Given the description of an element on the screen output the (x, y) to click on. 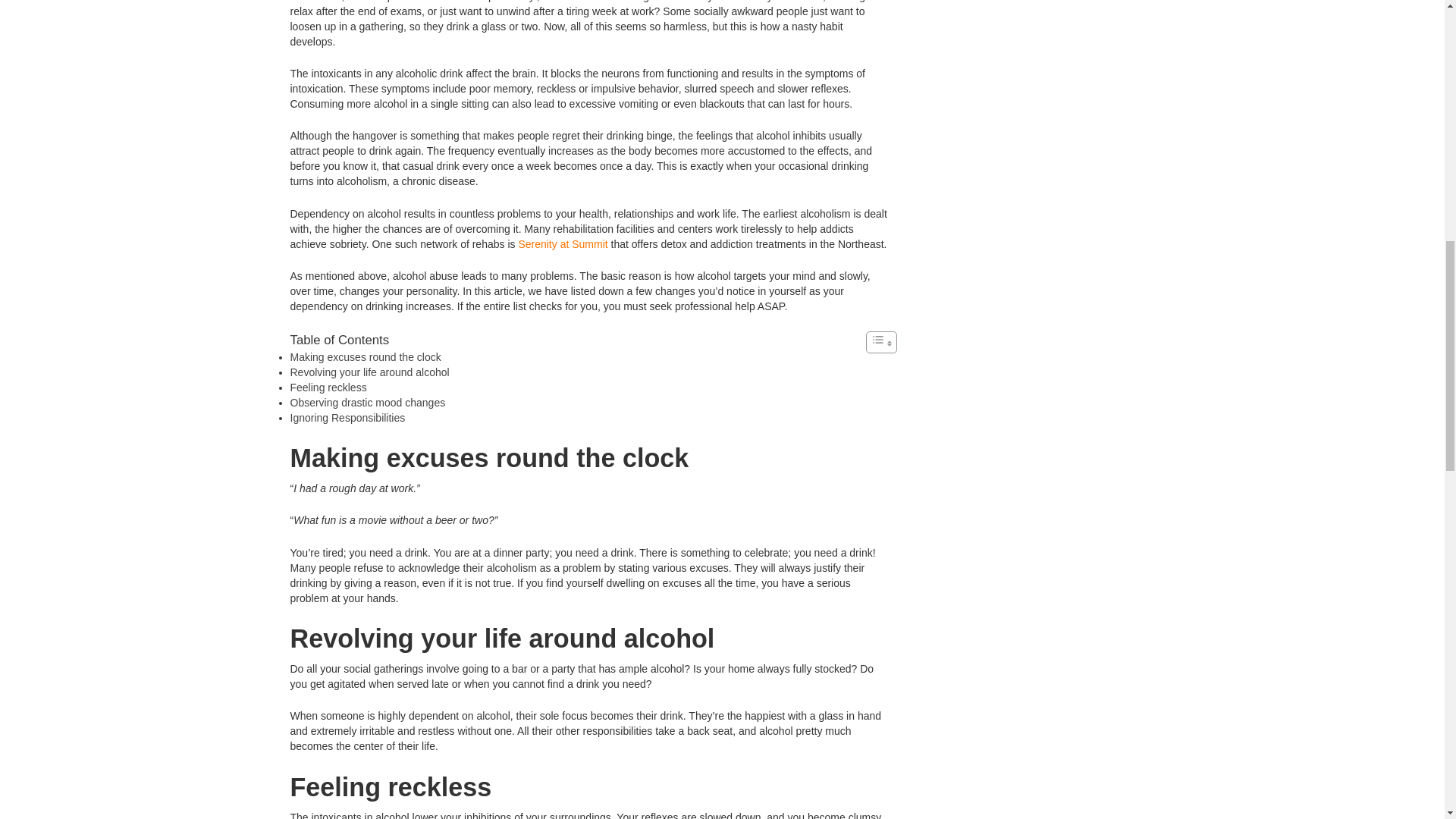
Observing drastic mood changes (367, 402)
Serenity at Summit (562, 244)
Feeling reckless (327, 387)
Ignoring Responsibilities (346, 417)
Revolving your life around alcohol (368, 372)
Making excuses round the clock (365, 357)
Observing drastic mood changes (367, 402)
Ignoring Responsibilities (346, 417)
Making excuses round the clock (365, 357)
Feeling reckless (327, 387)
Revolving your life around alcohol (368, 372)
